Given the description of an element on the screen output the (x, y) to click on. 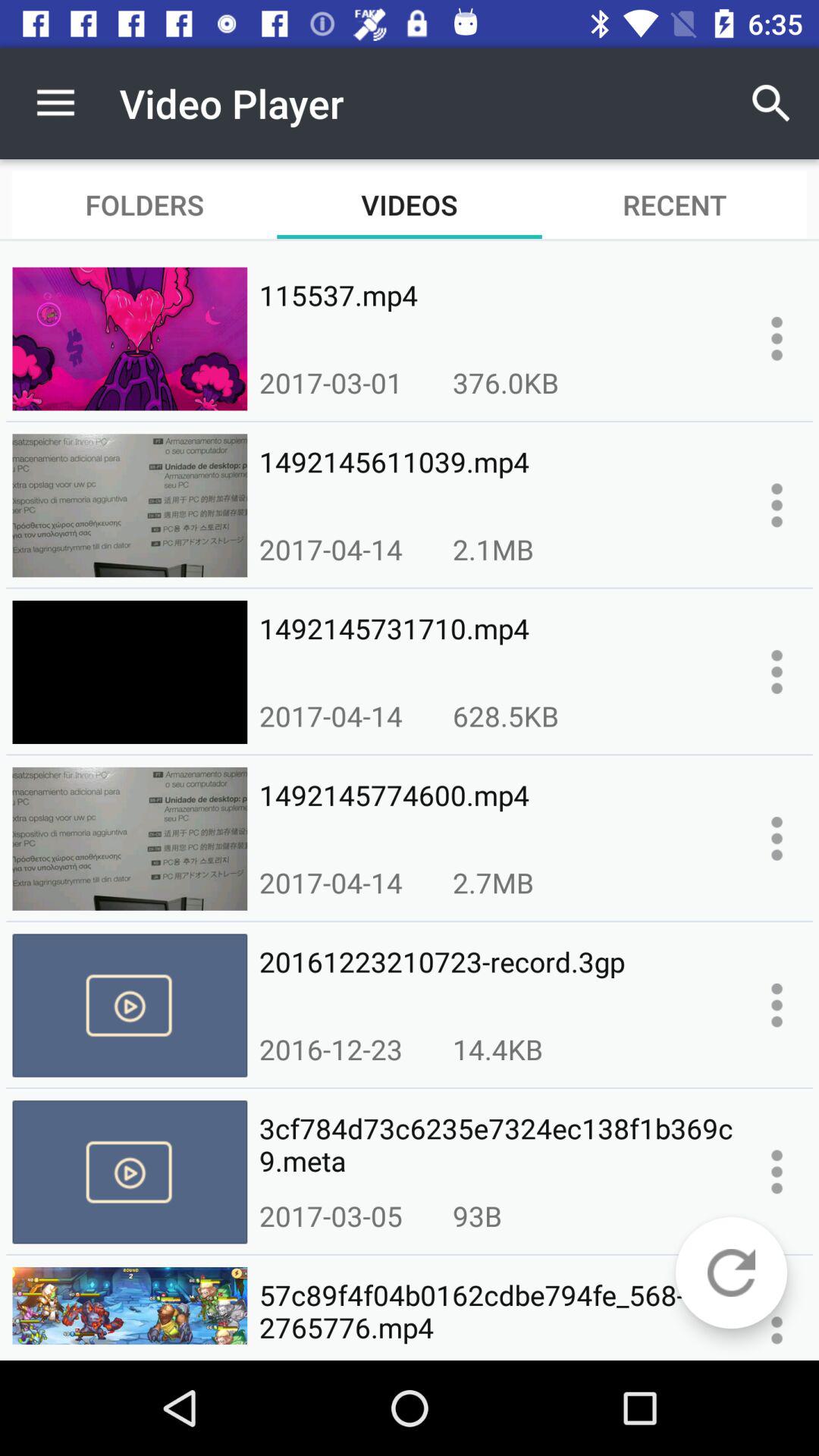
open the item above the folders (55, 103)
